Given the description of an element on the screen output the (x, y) to click on. 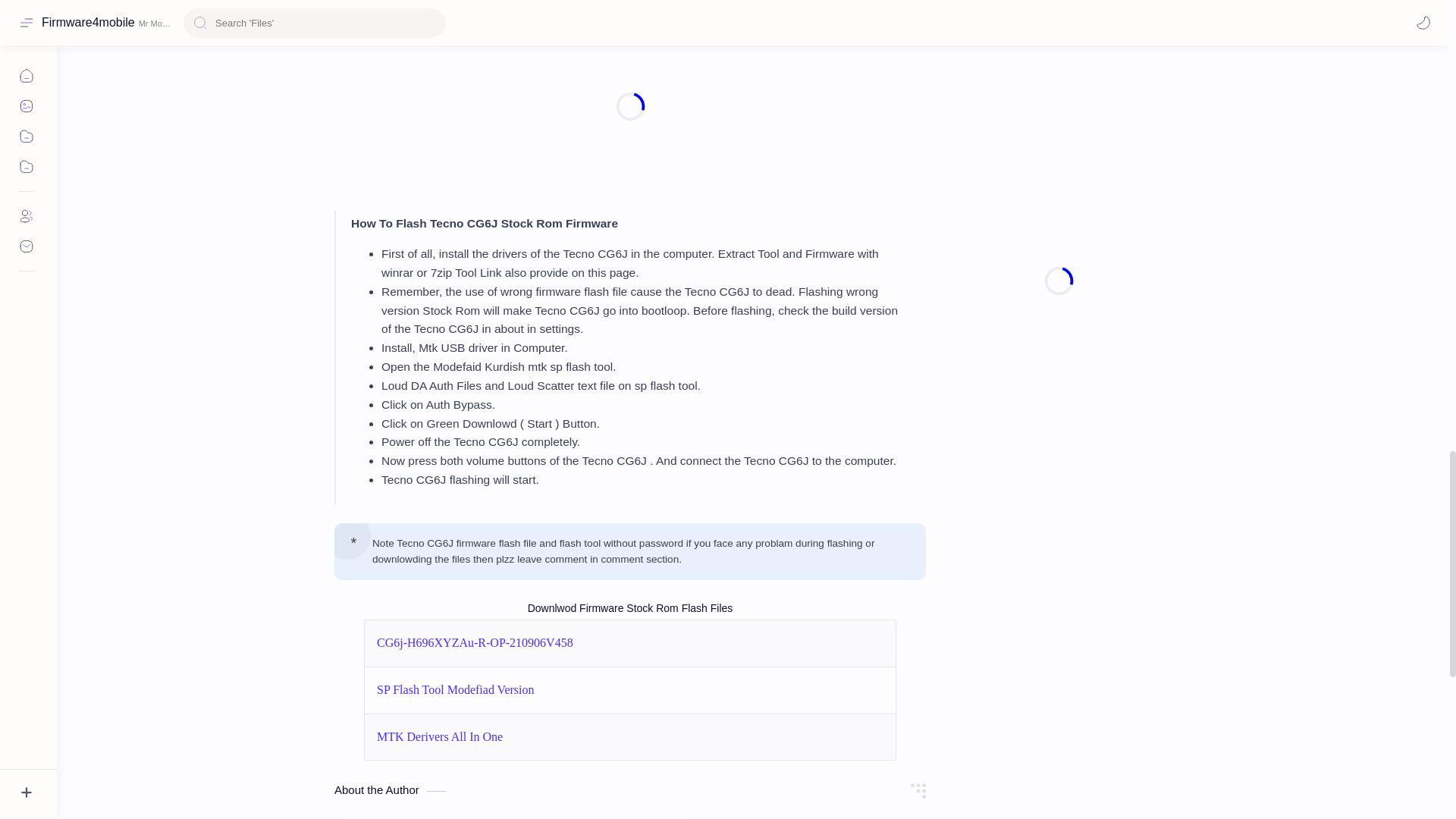
SP Flash Tool Modefiad Version (455, 689)
CG6j-H696XYZAu-R-OP-210906V458 (475, 642)
MTK Derivers All In One (439, 736)
Advertisement (630, 106)
